Given the description of an element on the screen output the (x, y) to click on. 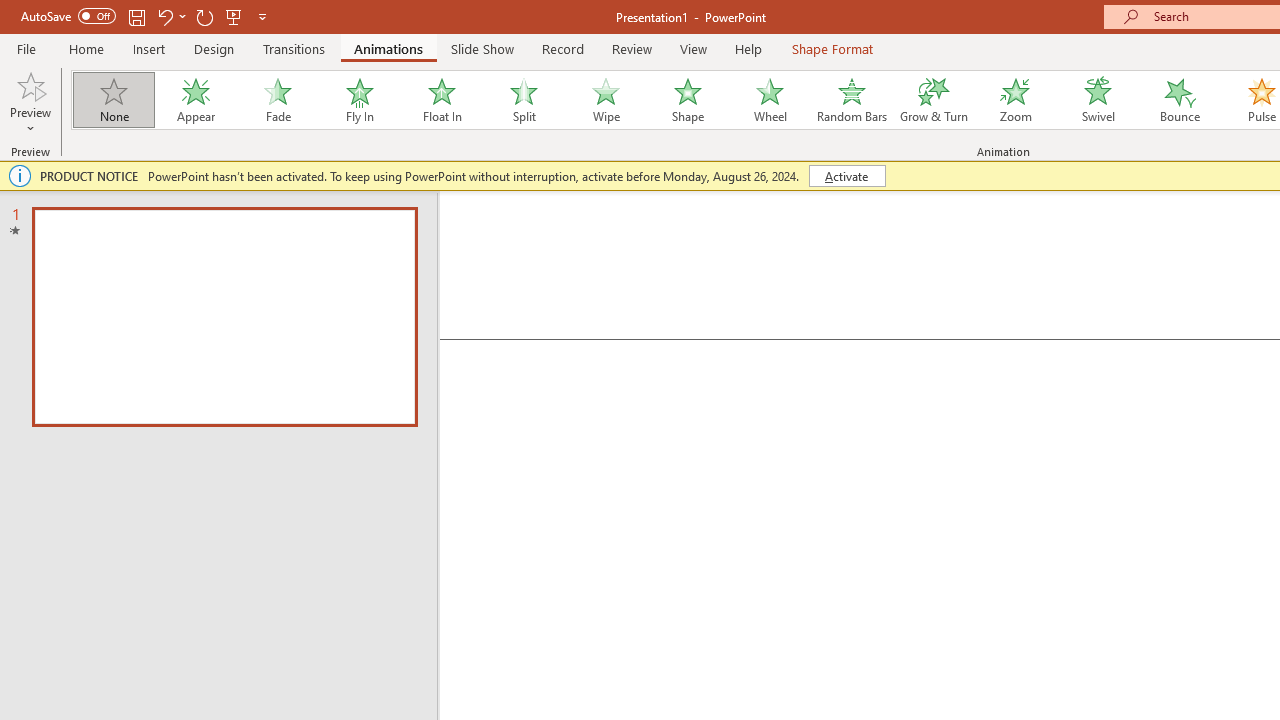
Bounce (1180, 100)
Swivel (1098, 100)
Fly In (359, 100)
Float In (441, 100)
Fade (277, 100)
